Given the description of an element on the screen output the (x, y) to click on. 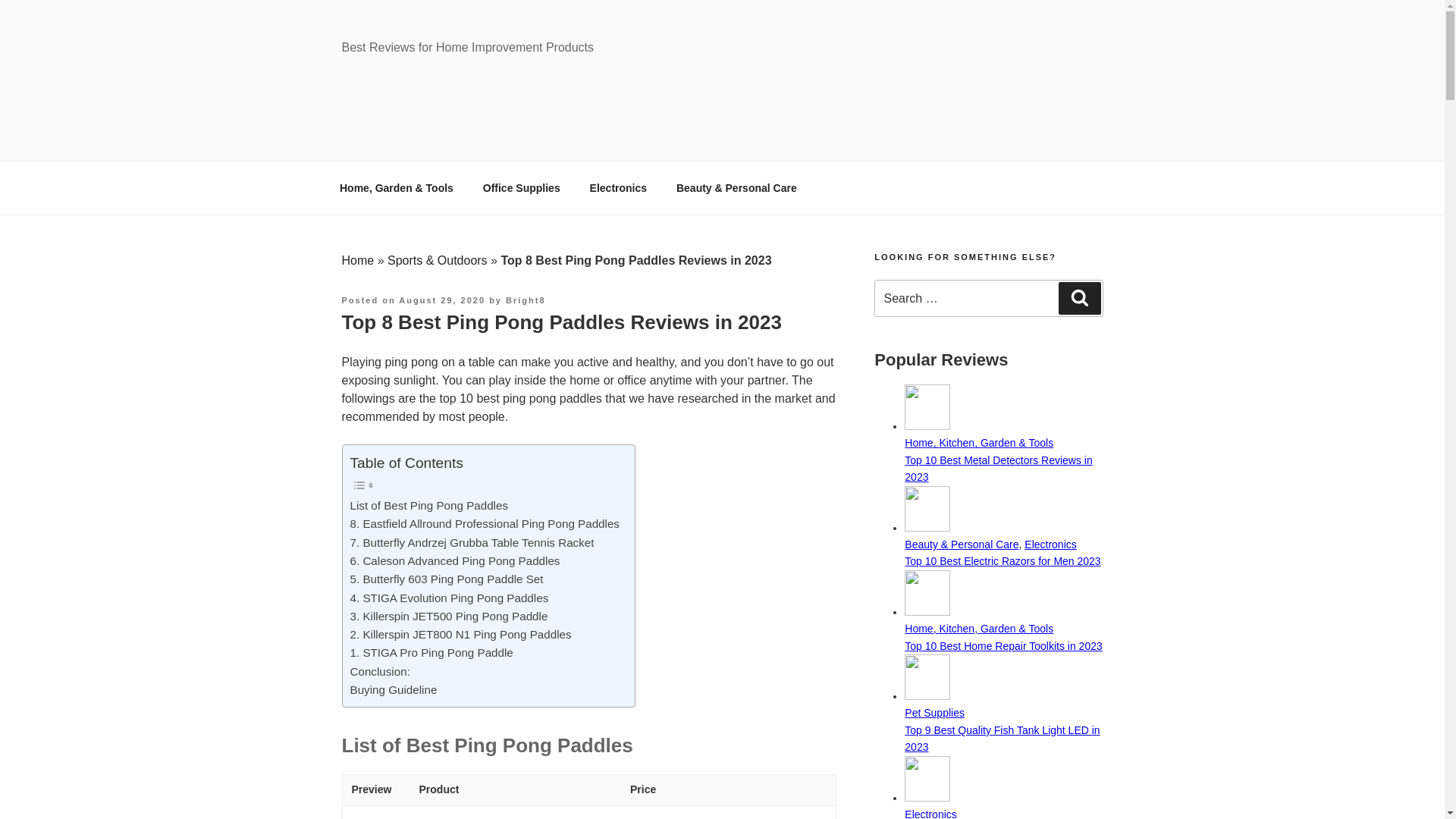
3. Killerspin JET500 Ping Pong Paddle (449, 616)
2. Killerspin JET800 N1 Ping Pong Paddles (461, 634)
Buying Guideline (394, 689)
4. STIGA Evolution Ping Pong Paddles (449, 597)
5. Butterfly 603 Ping Pong Paddle Set (446, 579)
List of Best Ping Pong Paddles (429, 505)
8. Eastfield Allround Professional Ping Pong Paddles (485, 524)
Eastfield Allround Professional Table Tennis... (376, 816)
Buying Guideline (394, 689)
5. Butterfly 603 Ping Pong Paddle Set (446, 579)
Home (357, 259)
Electronics (617, 188)
Conclusion: (380, 671)
6. Caleson Advanced Ping Pong Paddles (455, 561)
